Given the description of an element on the screen output the (x, y) to click on. 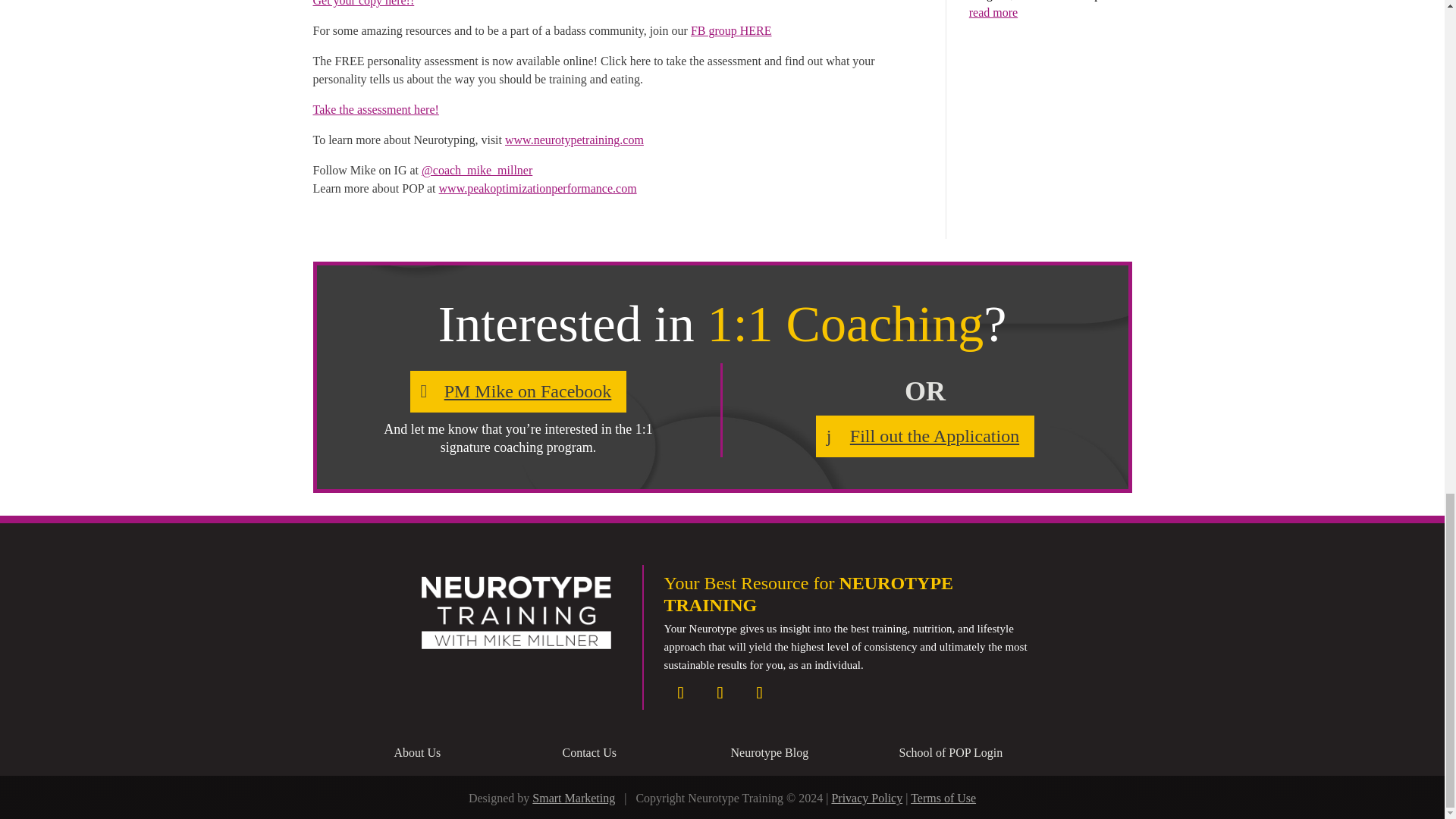
Take the assessment here! (375, 109)
Follow on Instagram (719, 693)
Follow on Facebook (680, 693)
www.neurotypetraining.com (574, 139)
Neurotype-Training-LOGO-2022-MM-white (516, 613)
FB group HERE (730, 30)
Follow on Youtube (759, 693)
Get your copy here!! (363, 3)
